Given the description of an element on the screen output the (x, y) to click on. 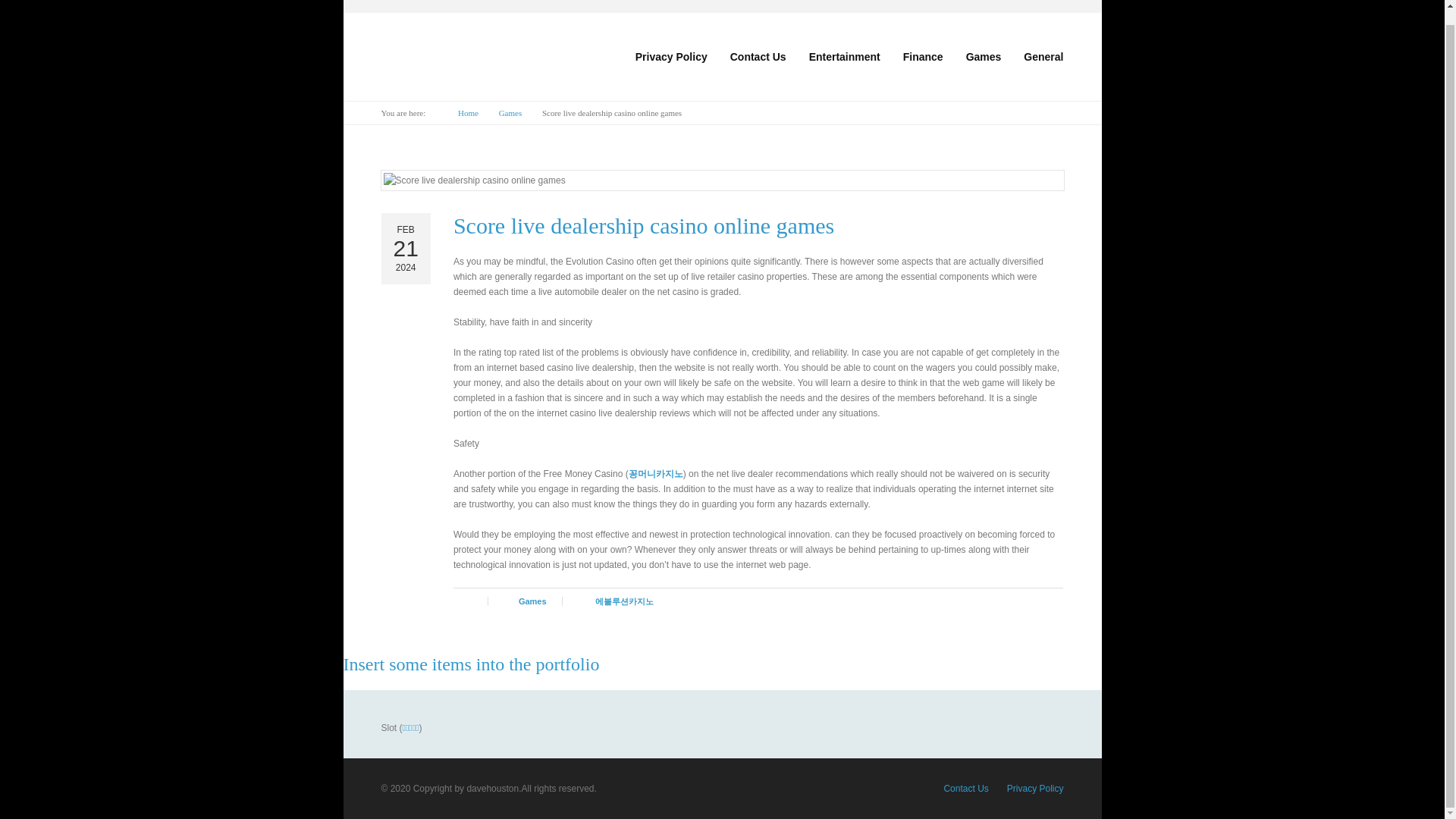
Home (467, 112)
Privacy Policy (1035, 787)
Contact Us (965, 787)
Finance (923, 56)
Score live dealership casino online games (643, 225)
Games (510, 112)
Games (984, 56)
Contact Us (758, 56)
Entertainment (844, 56)
View all posts by  (479, 601)
